Given the description of an element on the screen output the (x, y) to click on. 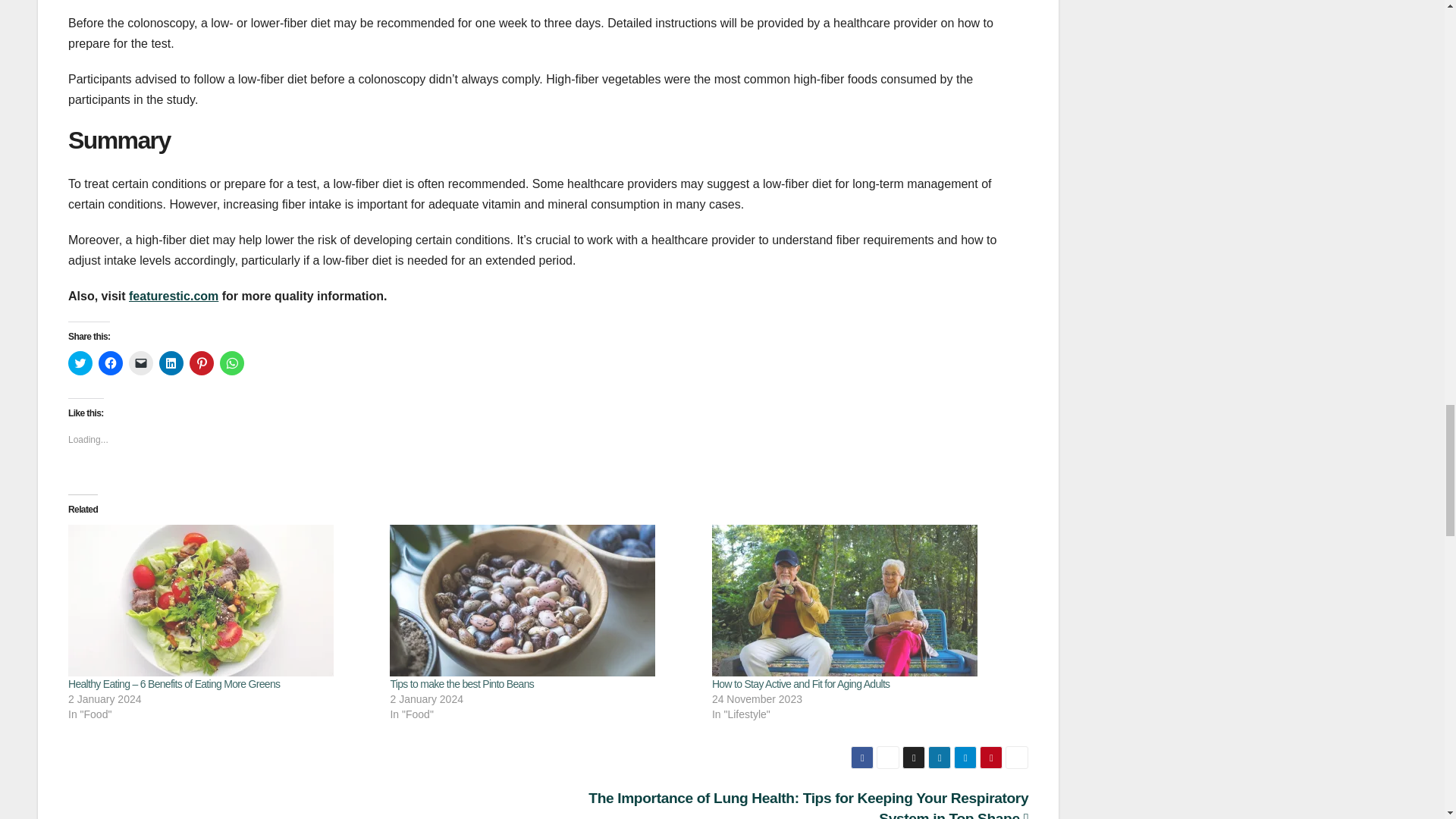
featurestic.com (173, 295)
